Given the description of an element on the screen output the (x, y) to click on. 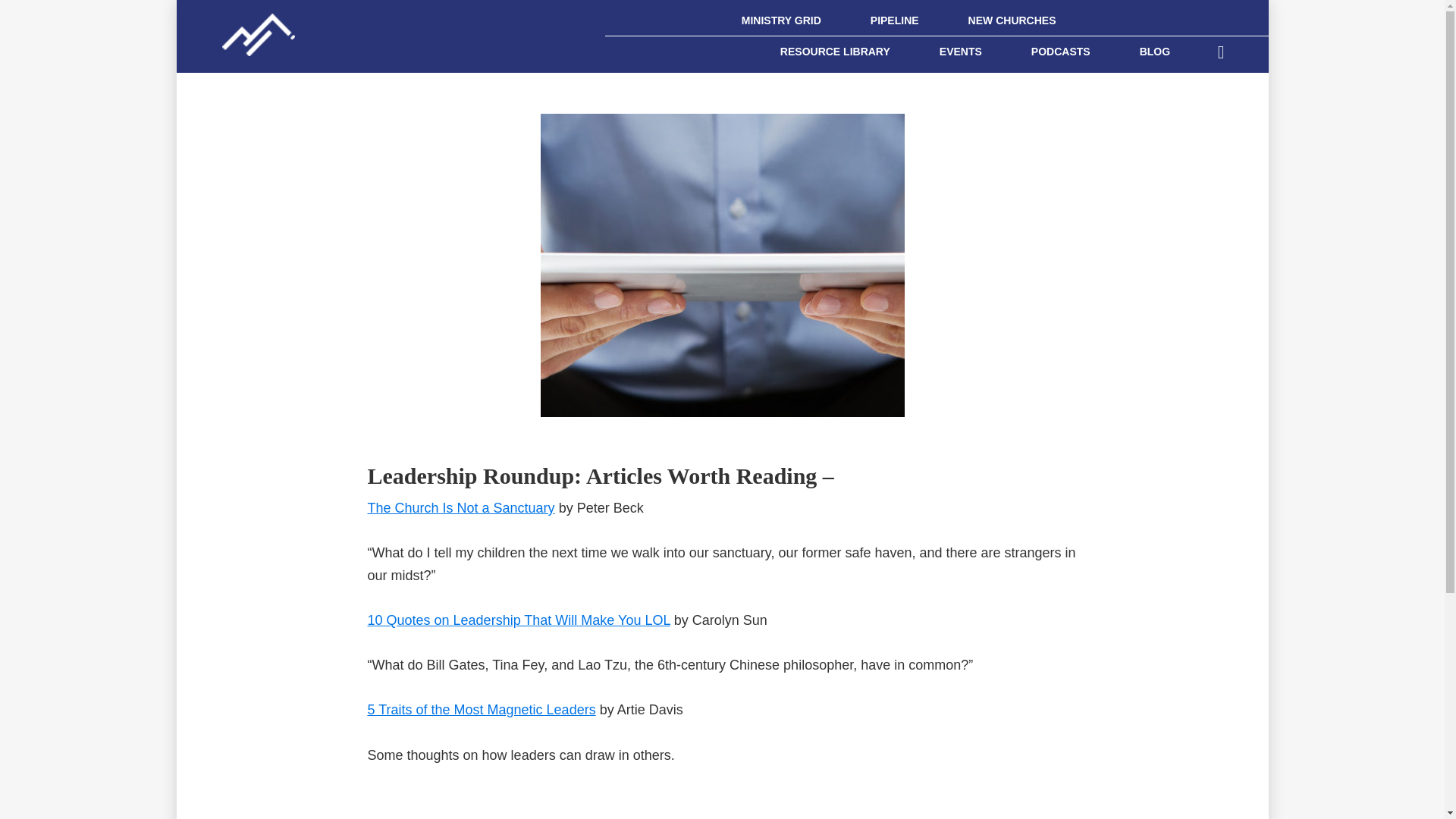
SHOW SEARCH (1220, 50)
BLOG (1154, 50)
MINISTRY GRID (781, 20)
5 Traits of the Most Magnetic Leaders (480, 709)
PIPELINE (894, 20)
The Church Is Not a Sanctuary (460, 507)
Lifeway Leadership (246, 26)
10 Quotes on Leadership That Will Make You LOL (517, 620)
EVENTS (960, 50)
NEW CHURCHES (1011, 20)
PODCASTS (1061, 50)
RESOURCE LIBRARY (834, 50)
